Given the description of an element on the screen output the (x, y) to click on. 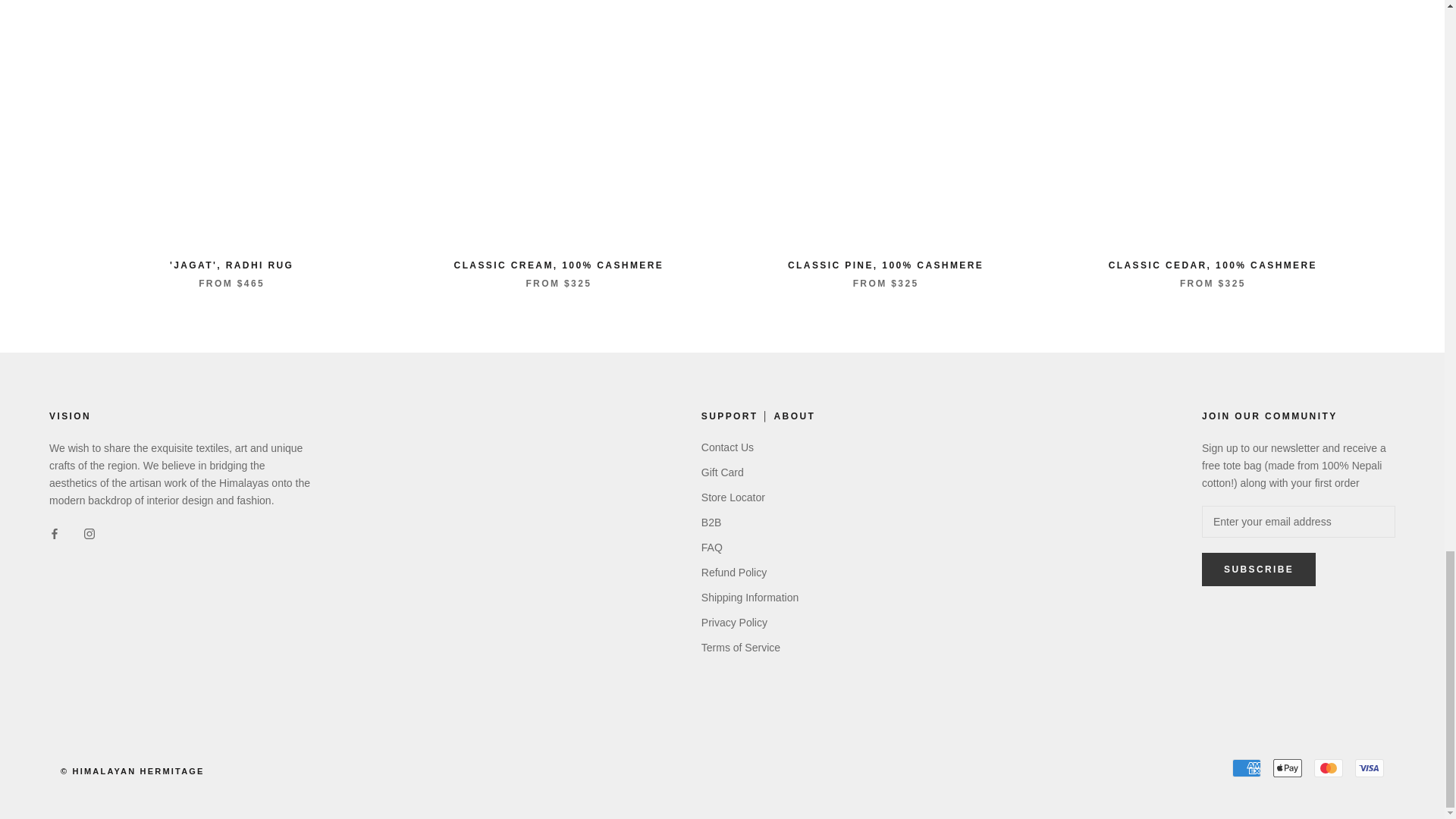
American Express (1245, 768)
Visa (1369, 768)
Mastercard (1328, 768)
Apple Pay (1286, 768)
